Given the description of an element on the screen output the (x, y) to click on. 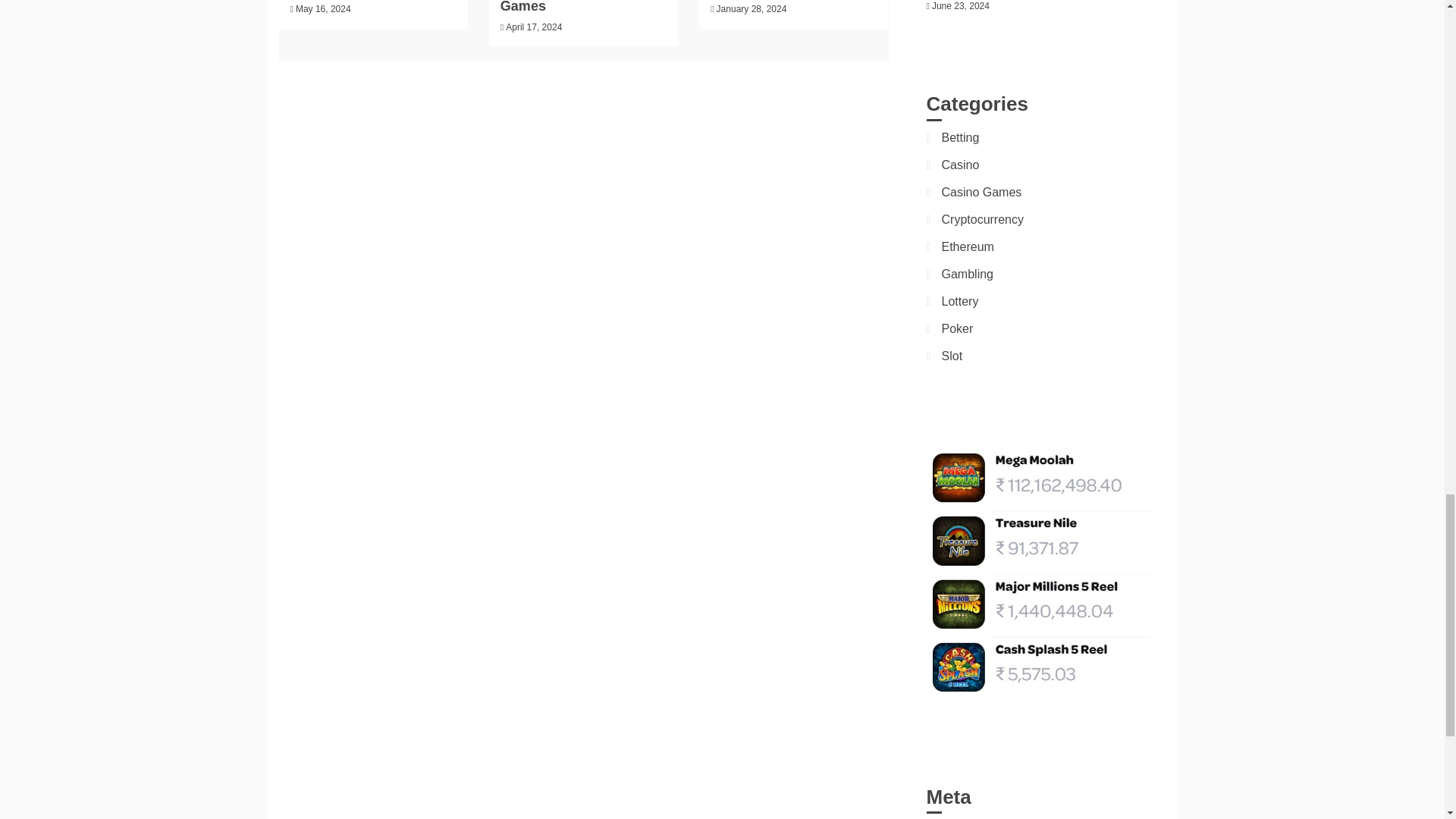
January 28, 2024 (751, 9)
May 16, 2024 (322, 9)
April 17, 2024 (533, 27)
